Given the description of an element on the screen output the (x, y) to click on. 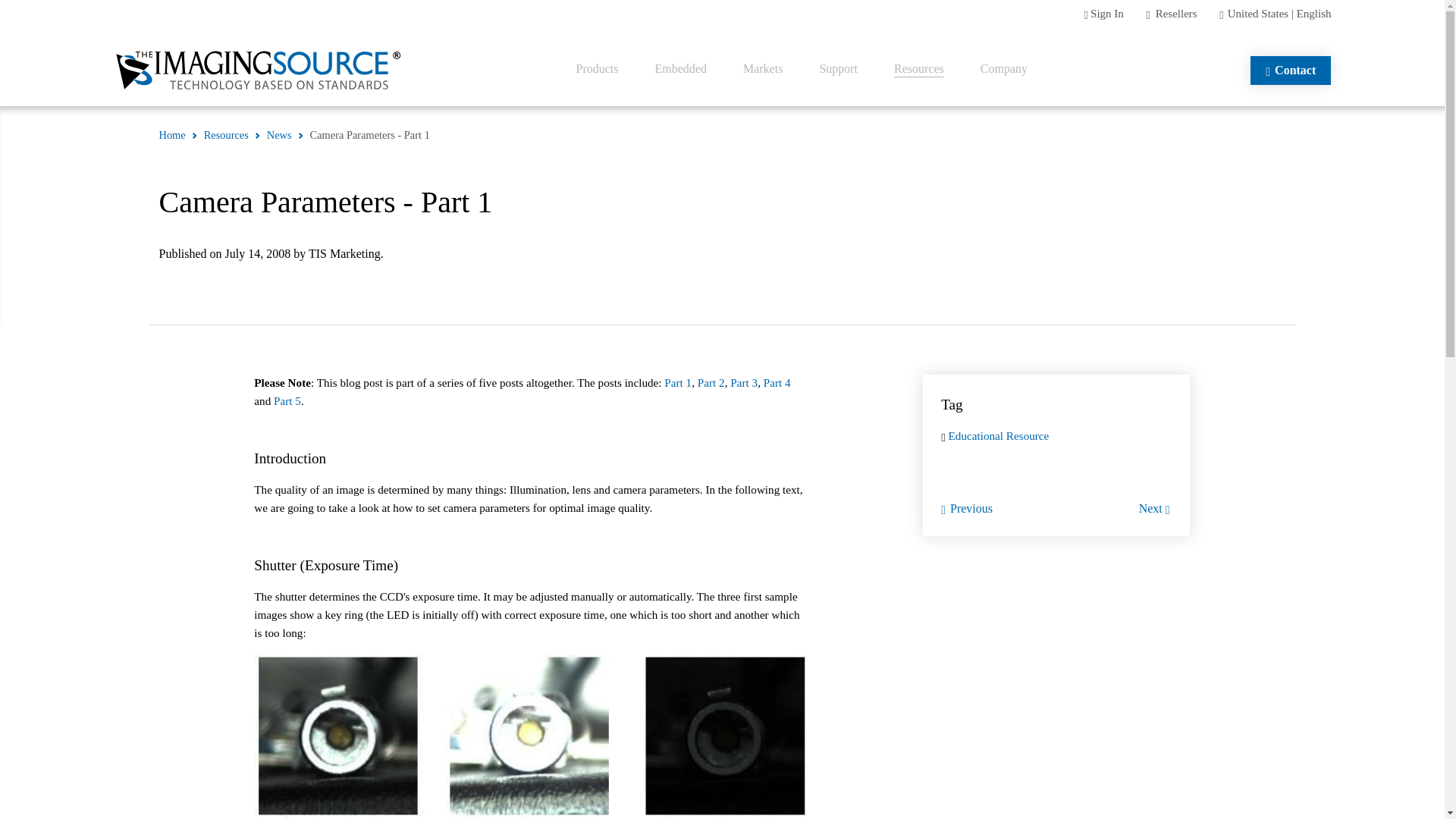
The Imaging Source, LLC (258, 70)
Sign In (1107, 13)
Products (597, 68)
Resellers (1176, 13)
